Given the description of an element on the screen output the (x, y) to click on. 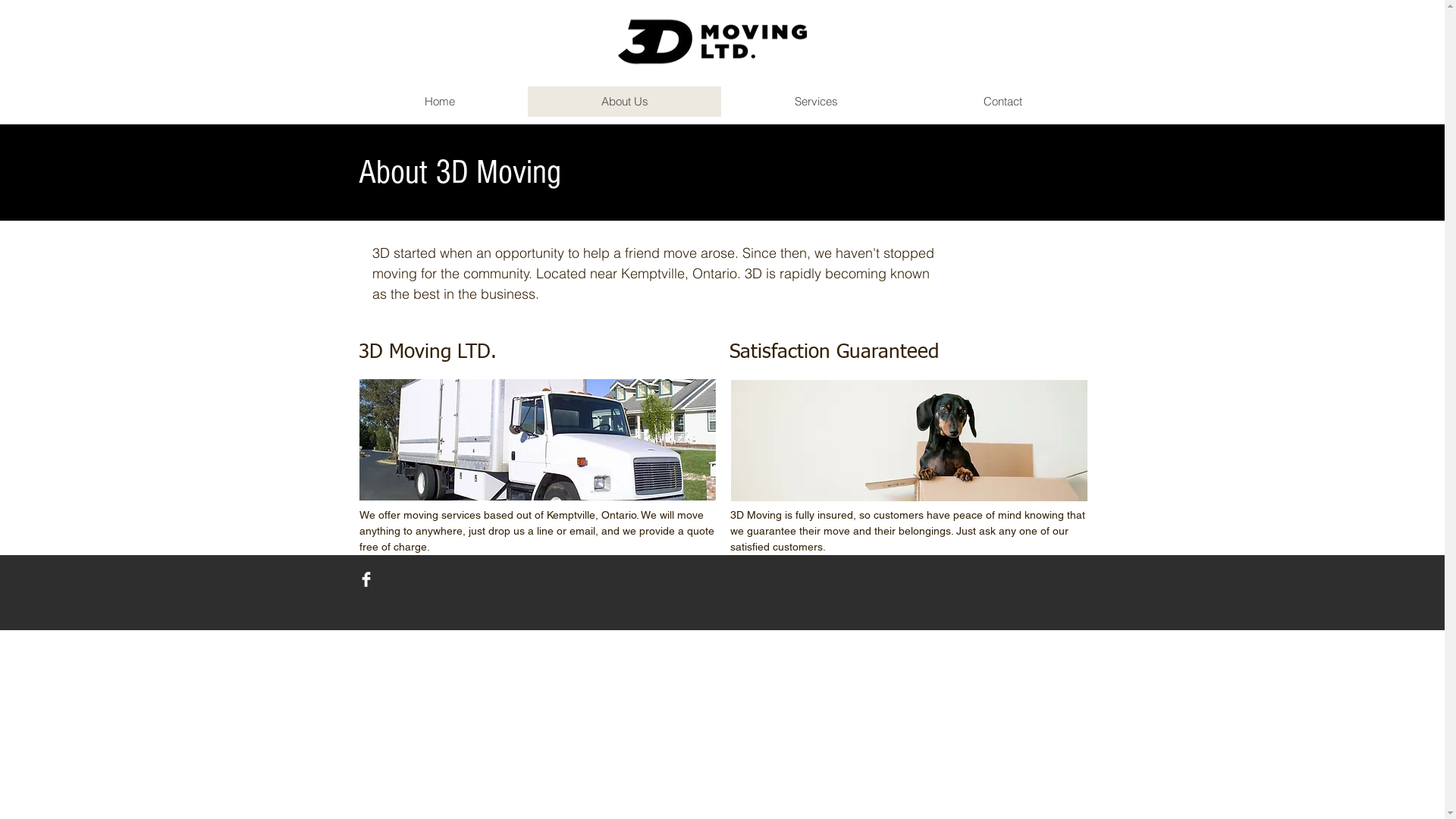
Services Element type: text (815, 101)
Home Element type: text (439, 101)
Contact Element type: text (1002, 101)
About Us Element type: text (624, 101)
